Given the description of an element on the screen output the (x, y) to click on. 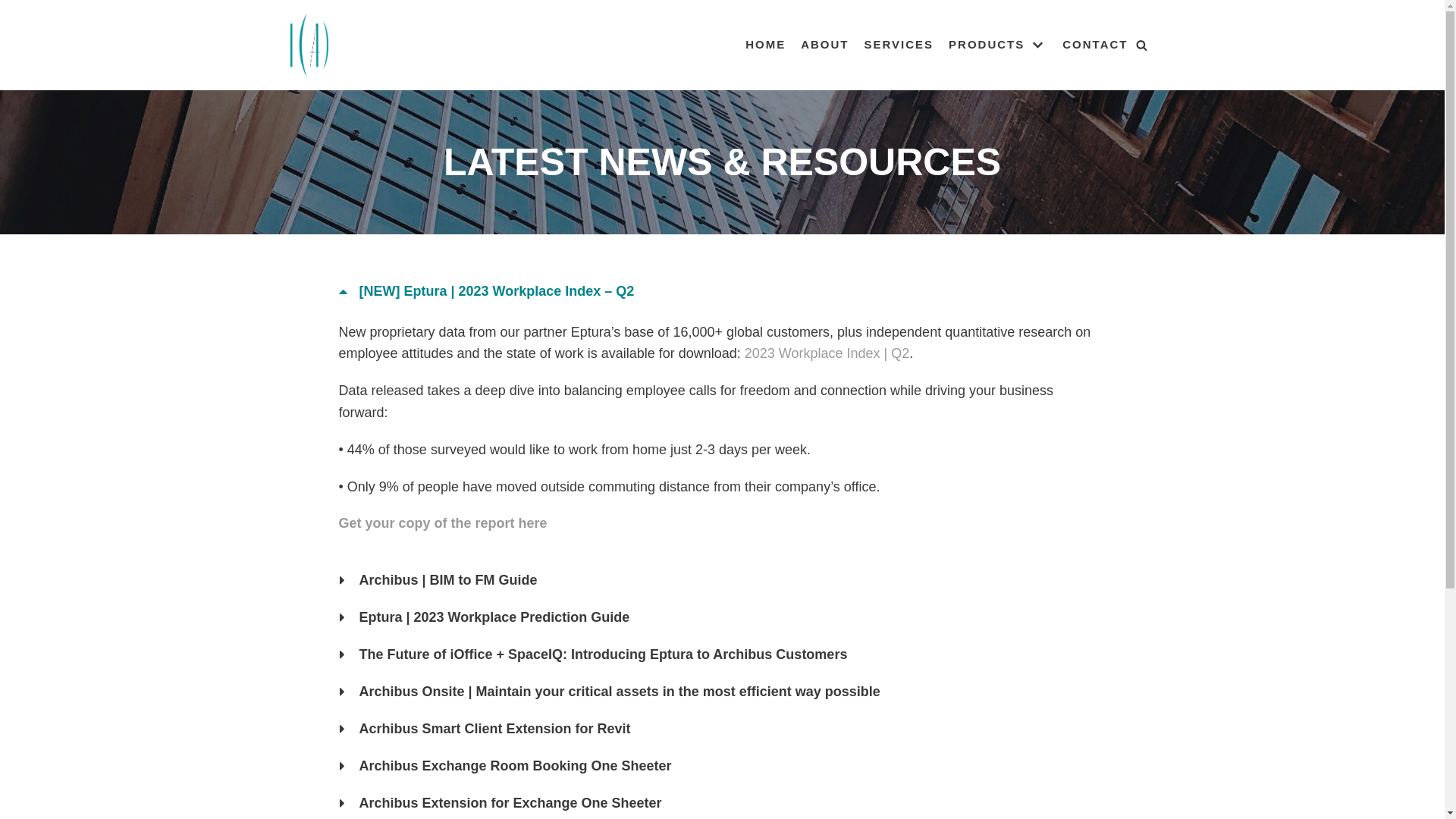
Acrhibus Smart Client Extension for Revit Element type: text (494, 728)
ICAD Consultants Element type: hover (308, 44)
Eptura | 2023 Workplace Prediction Guide Element type: text (494, 616)
ABOUT Element type: text (824, 44)
Skip to content Element type: text (15, 31)
Search Element type: text (1137, 409)
SERVICES Element type: text (899, 44)
Archibus Exchange Room Booking One Sheeter Element type: text (515, 765)
Archibus | BIM to FM Guide Element type: text (448, 579)
PRODUCTS Element type: text (997, 44)
Archibus Extension for Exchange One Sheeter Element type: text (510, 802)
HOME Element type: text (765, 44)
CONTACT Element type: text (1094, 44)
Get your copy of the report here Element type: text (442, 522)
2023 Workplace Index | Q2 Element type: text (826, 352)
